Given the description of an element on the screen output the (x, y) to click on. 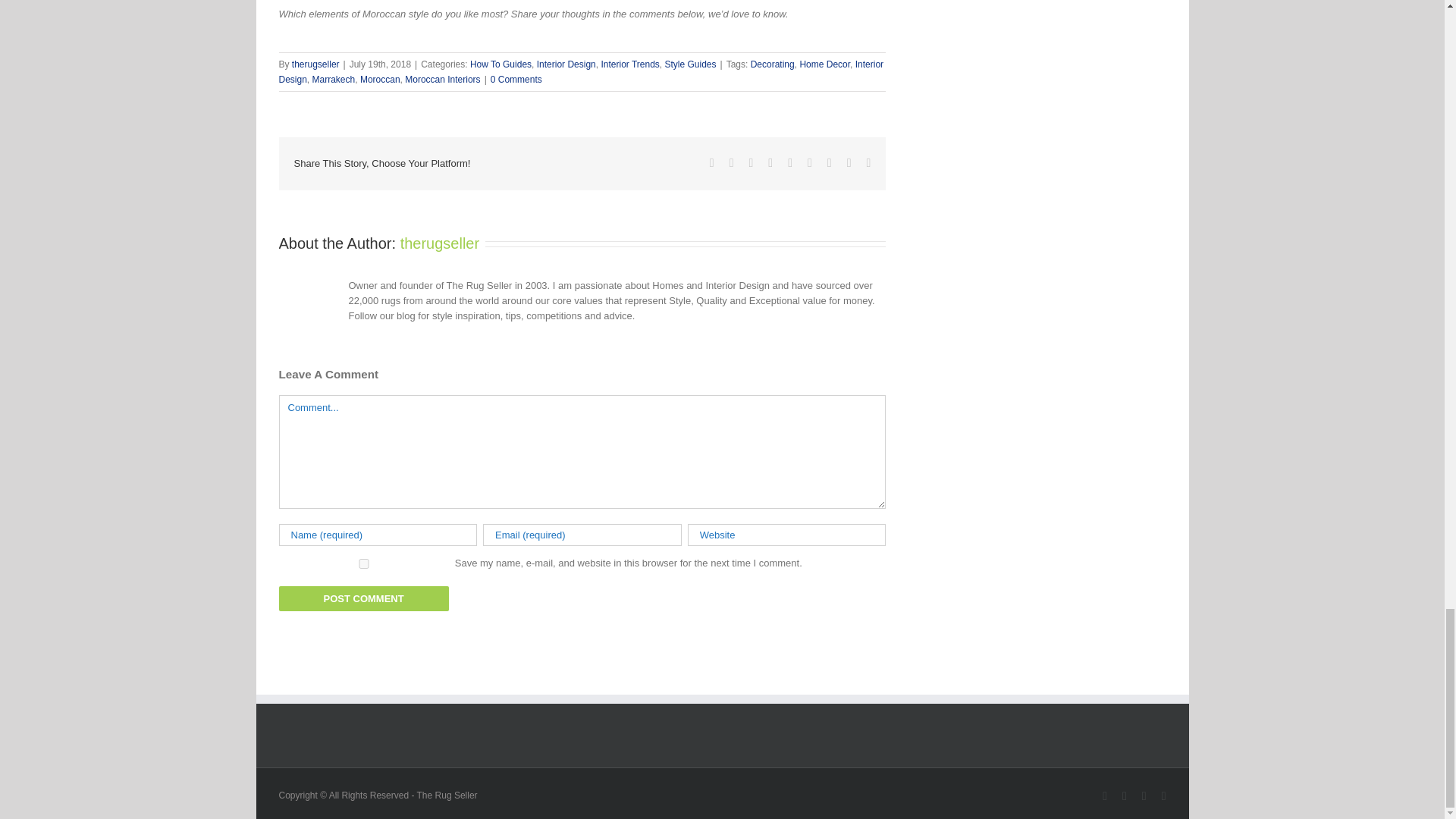
yes (363, 563)
Post Comment (363, 598)
Posts by therugseller (315, 63)
Posts by therugseller (440, 243)
